Given the description of an element on the screen output the (x, y) to click on. 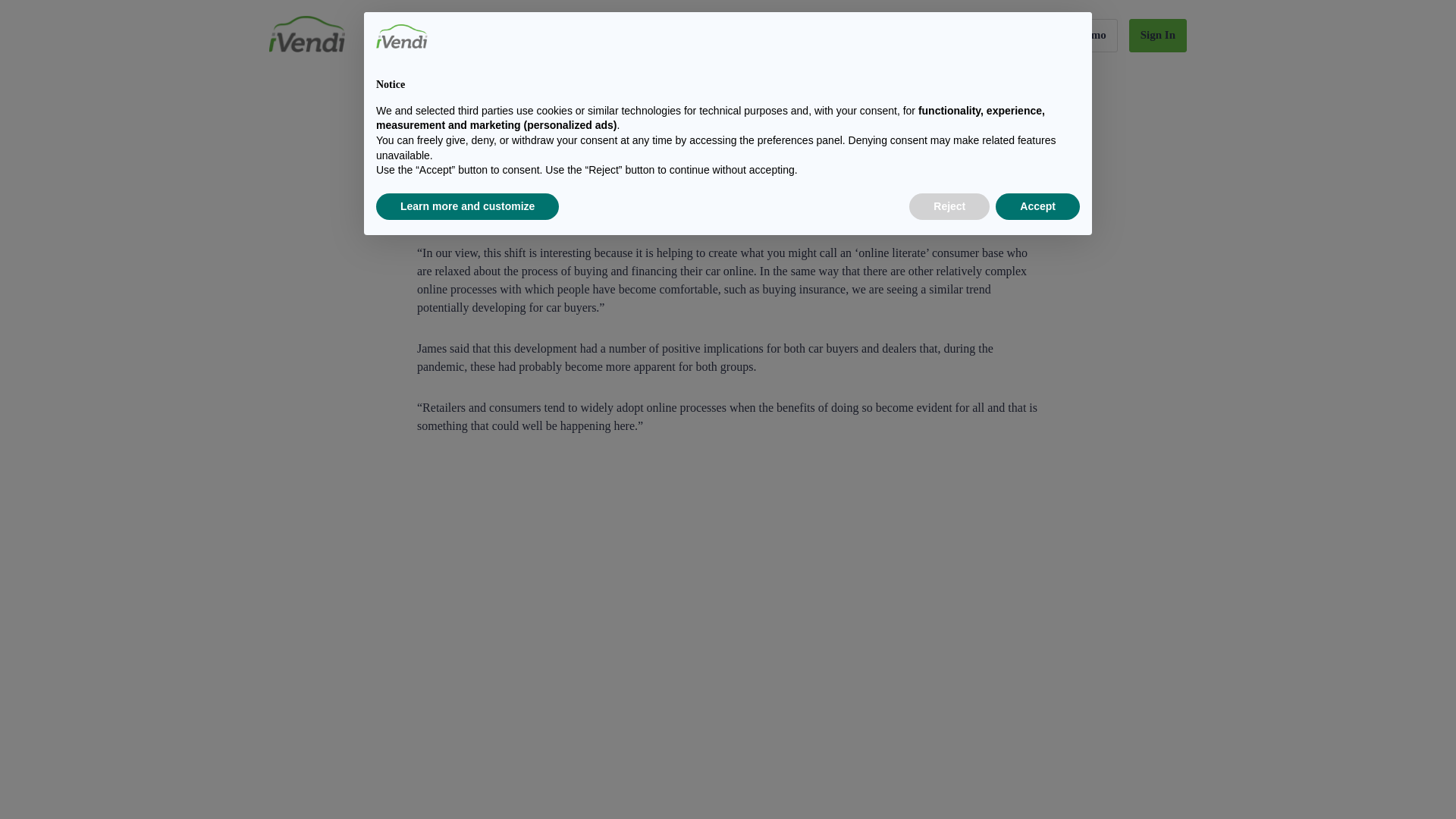
Follow us on YouTube (988, 681)
Follow us on LinkedIn (988, 614)
Follow us on Instagram (988, 648)
